Given the description of an element on the screen output the (x, y) to click on. 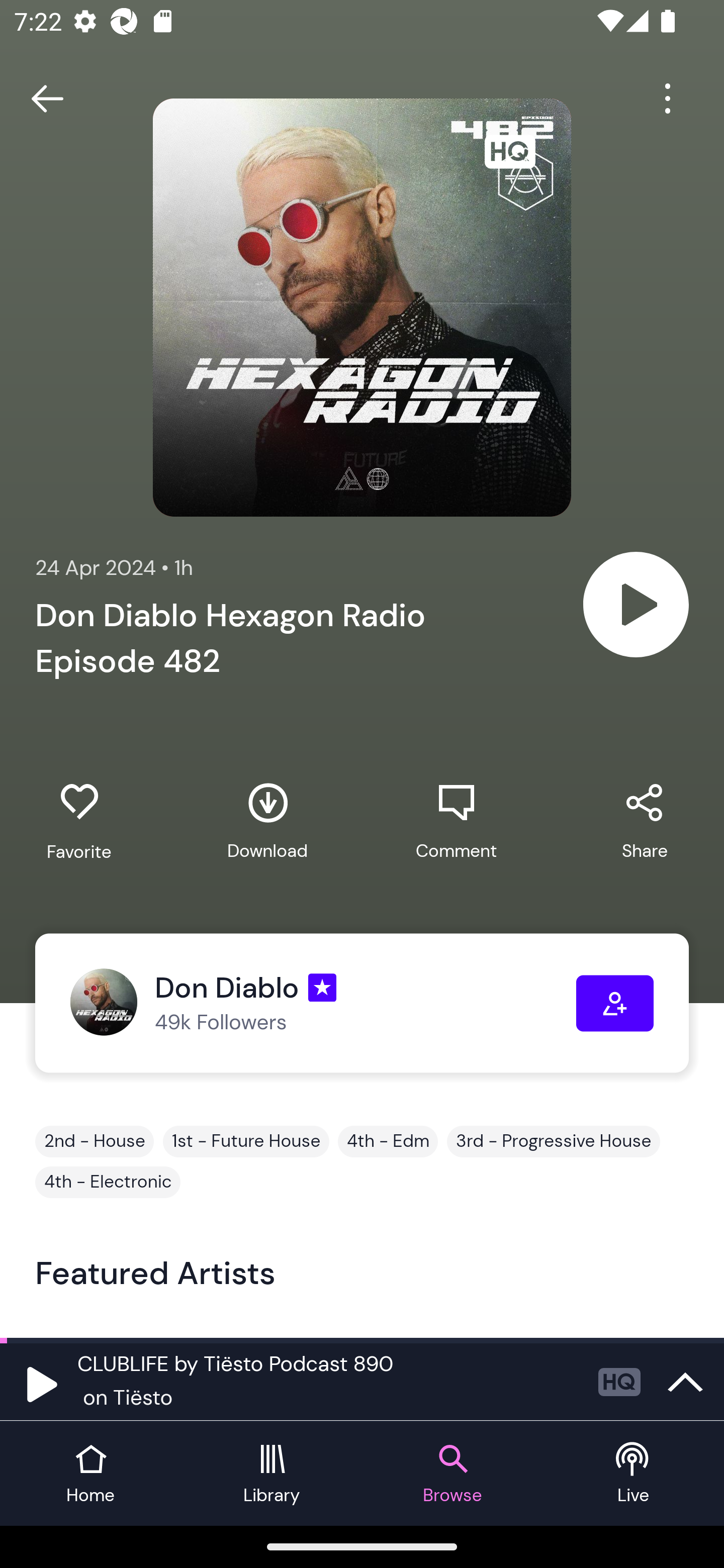
Favorite (79, 821)
Download (267, 821)
Comment (455, 821)
Share (644, 821)
Don Diablo, 49k Followers Don Diablo 49k Followers (323, 1003)
Follow (614, 1003)
2nd - House (94, 1141)
1st - Future House (245, 1141)
4th - Edm (388, 1141)
3rd - Progressive House (553, 1141)
4th - Electronic (107, 1181)
